Given the description of an element on the screen output the (x, y) to click on. 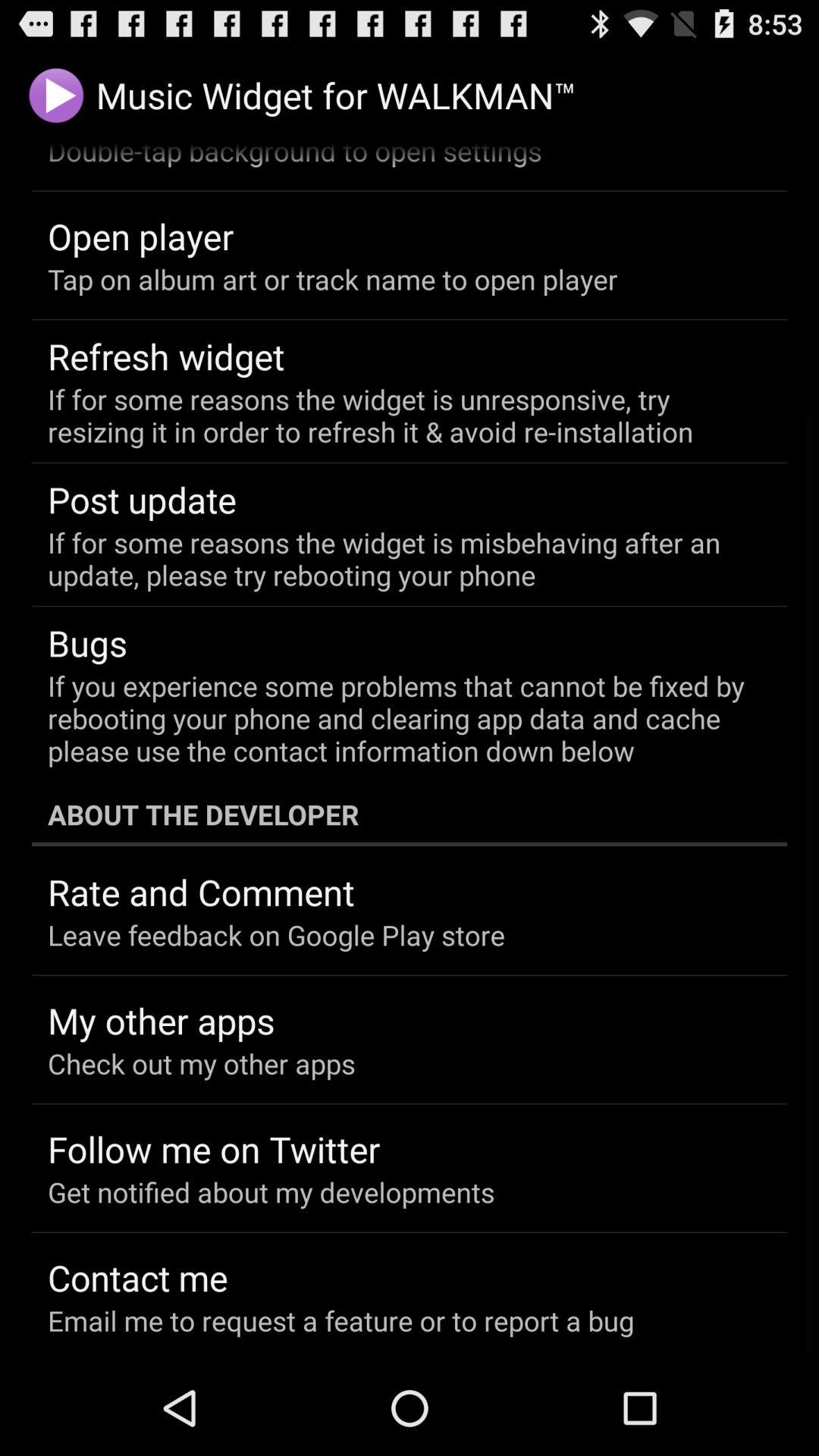
launch follow me on icon (213, 1148)
